Given the description of an element on the screen output the (x, y) to click on. 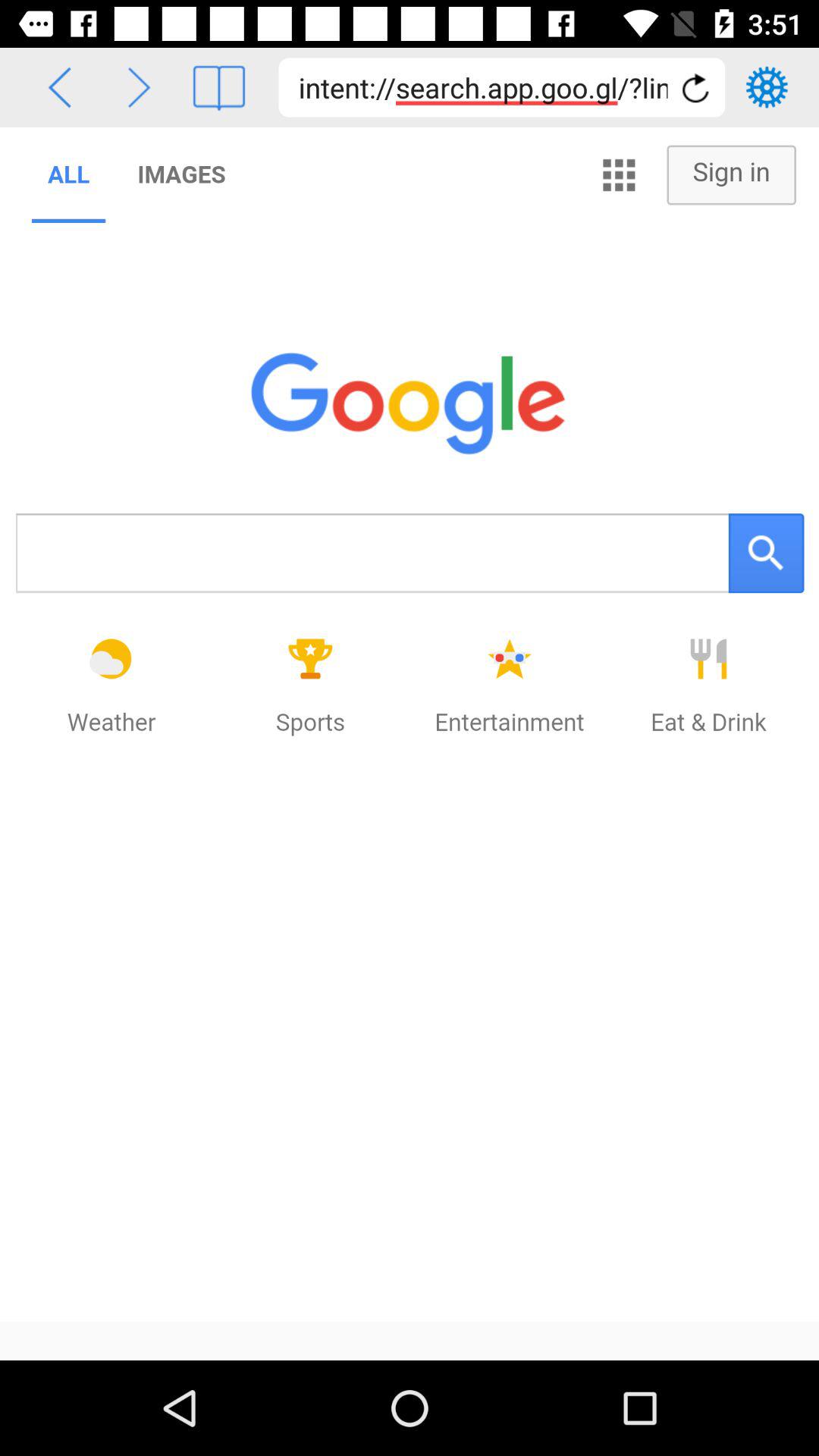
image page (218, 87)
